Given the description of an element on the screen output the (x, y) to click on. 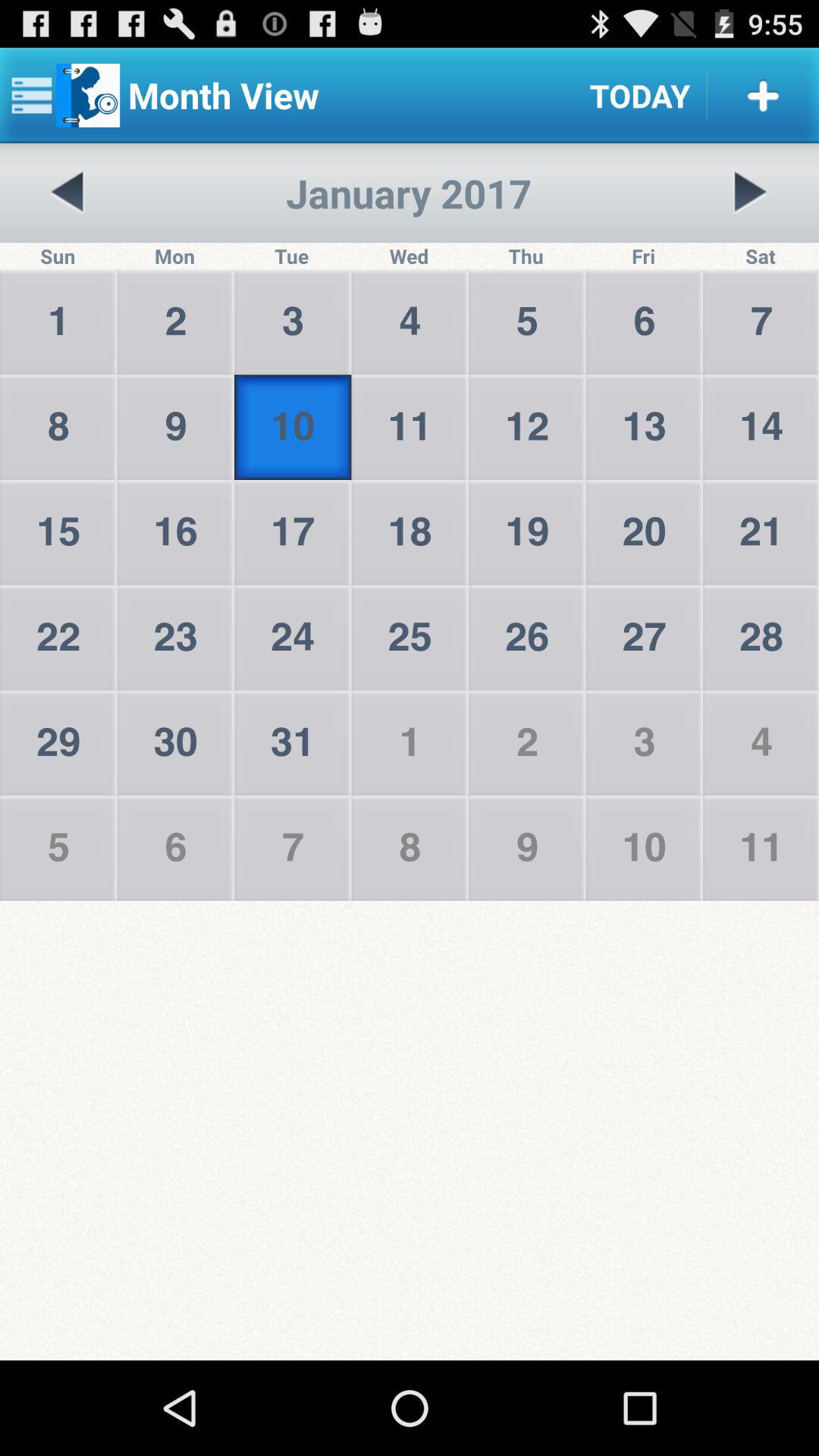
go forward one month (750, 192)
